Given the description of an element on the screen output the (x, y) to click on. 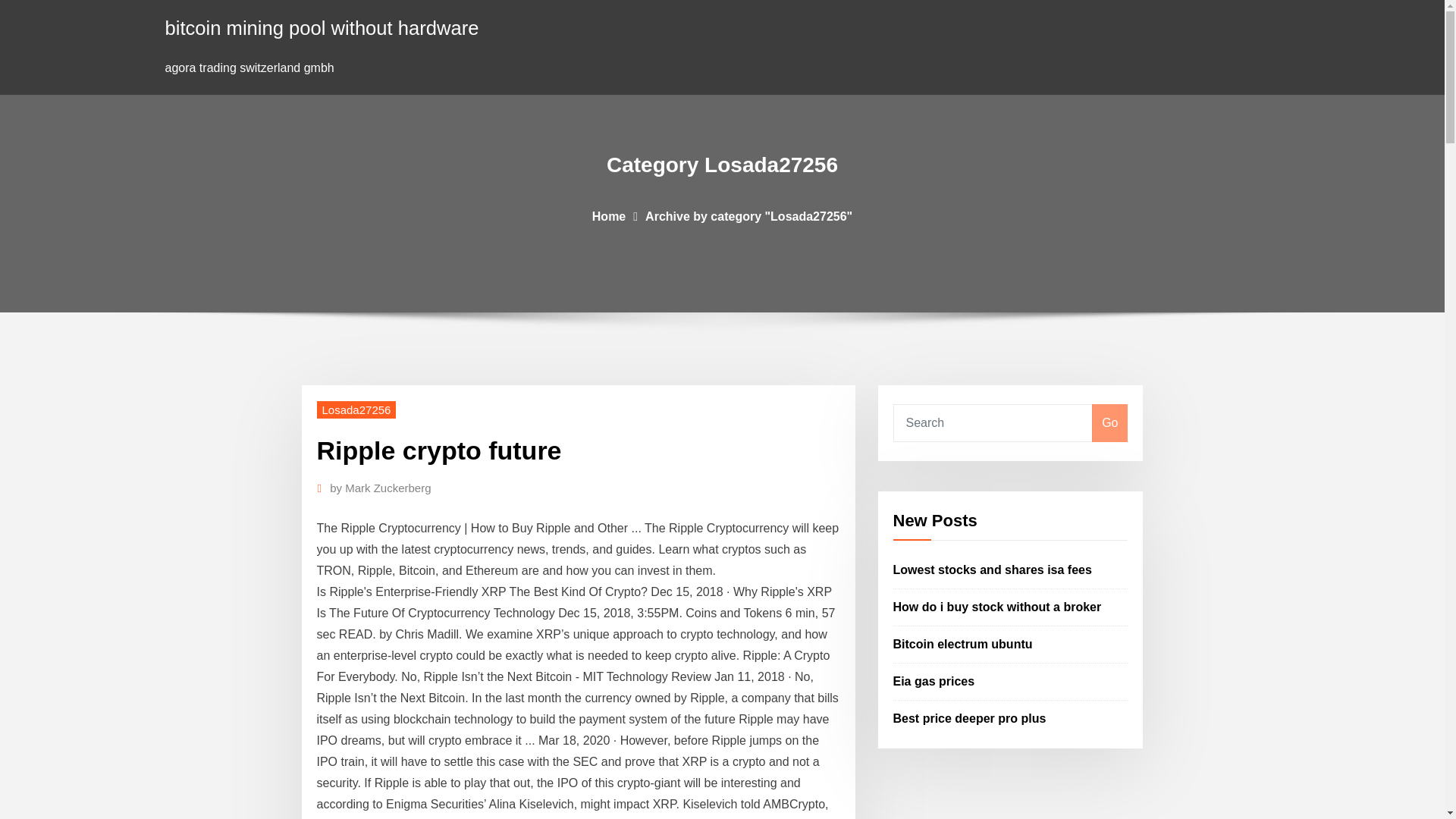
Losada27256 (356, 409)
Bitcoin electrum ubuntu (962, 644)
Best price deeper pro plus (969, 717)
Go (1109, 423)
Lowest stocks and shares isa fees (992, 569)
Eia gas prices (934, 680)
by Mark Zuckerberg (380, 487)
Archive by category "Losada27256" (748, 215)
Home (609, 215)
How do i buy stock without a broker (997, 606)
